Given the description of an element on the screen output the (x, y) to click on. 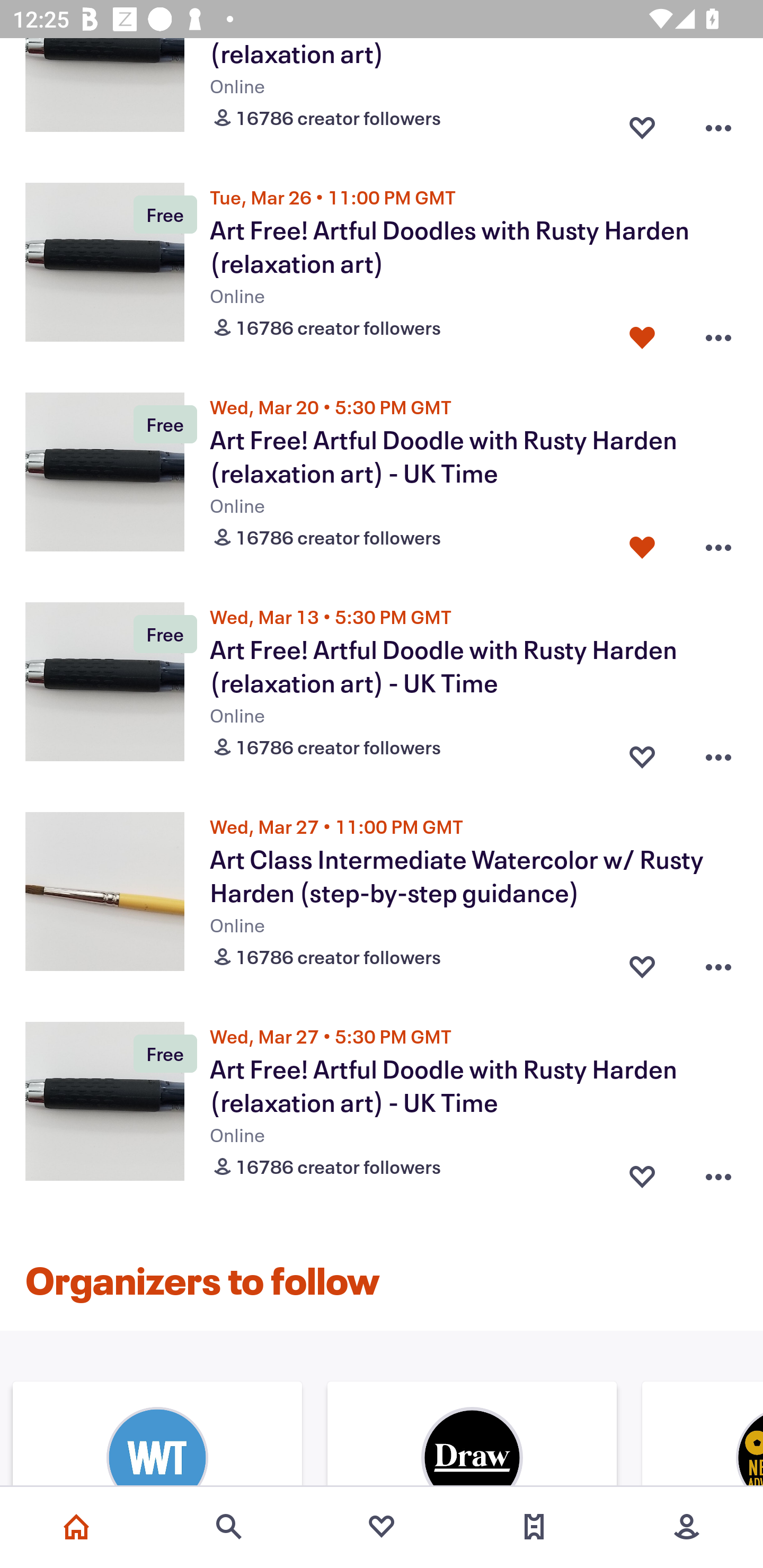
Favorite button (642, 122)
Overflow menu button (718, 122)
Favorite button (642, 332)
Overflow menu button (718, 332)
Favorite button (642, 543)
Overflow menu button (718, 543)
Favorite button (642, 753)
Overflow menu button (718, 753)
Favorite button (642, 962)
Overflow menu button (718, 962)
Favorite button (642, 1171)
Overflow menu button (718, 1171)
Organizer's image (157, 1436)
Organizer's image (471, 1436)
Home (76, 1526)
Search events (228, 1526)
Favorites (381, 1526)
Tickets (533, 1526)
More (686, 1526)
